Given the description of an element on the screen output the (x, y) to click on. 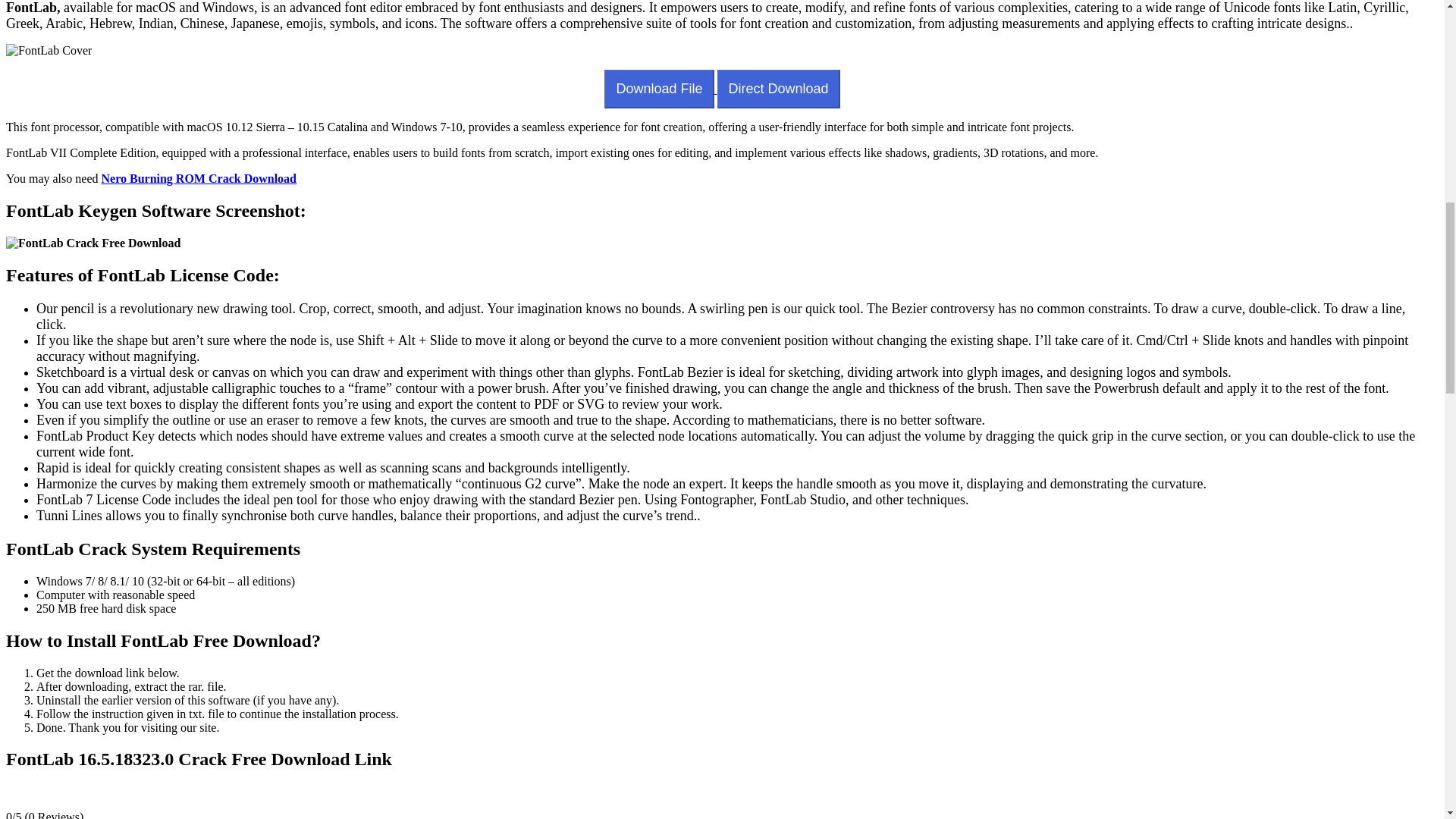
Nero Burning ROM Crack Download (198, 178)
Download File (658, 88)
Direct Download (778, 88)
Download File Direct Download (722, 88)
